Given the description of an element on the screen output the (x, y) to click on. 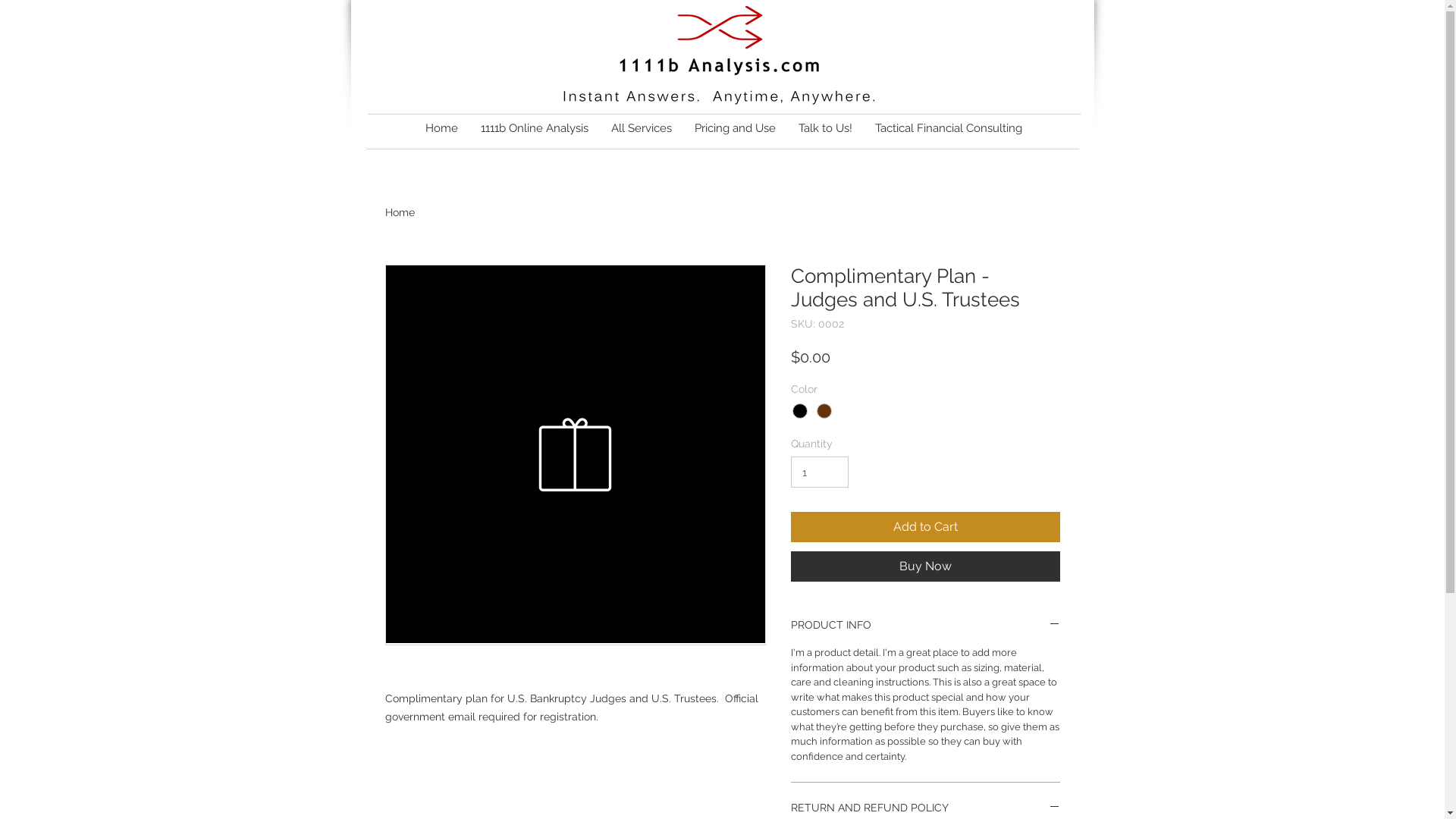
Home Element type: text (441, 128)
Add to Cart Element type: text (924, 526)
PRODUCT INFO Element type: text (924, 625)
1111b Online Analysis Element type: text (533, 128)
RETURN AND REFUND POLICY Element type: text (924, 807)
Pricing and Use Element type: text (734, 128)
Talk to Us! Element type: text (825, 128)
Home Element type: text (399, 212)
All Services Element type: text (640, 128)
Tactical Financial Consulting Element type: text (947, 128)
Buy Now Element type: text (924, 566)
